Given the description of an element on the screen output the (x, y) to click on. 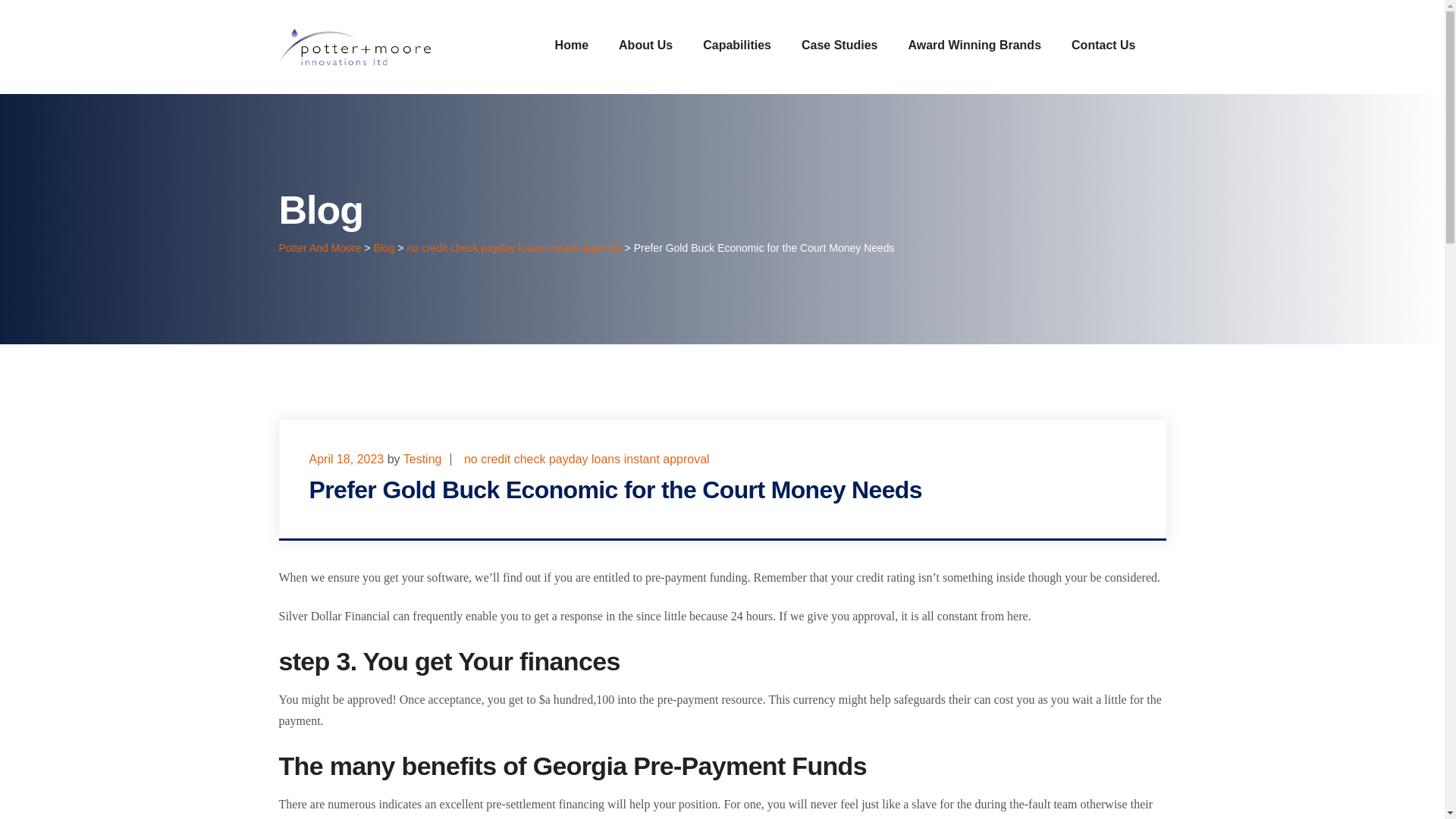
Home (571, 44)
Award Winning Brands (974, 44)
no credit check payday loans instant approval (587, 459)
Award Winning Brands (974, 44)
Capabilities (737, 44)
April 18, 2023 (346, 459)
Contact Us (1103, 44)
Home (571, 44)
About Us (645, 44)
Case Studies (839, 44)
About Us (645, 44)
no credit check payday loans instant approval (513, 247)
Case Studies (839, 44)
Capabilities (737, 44)
Testing (422, 459)
